Given the description of an element on the screen output the (x, y) to click on. 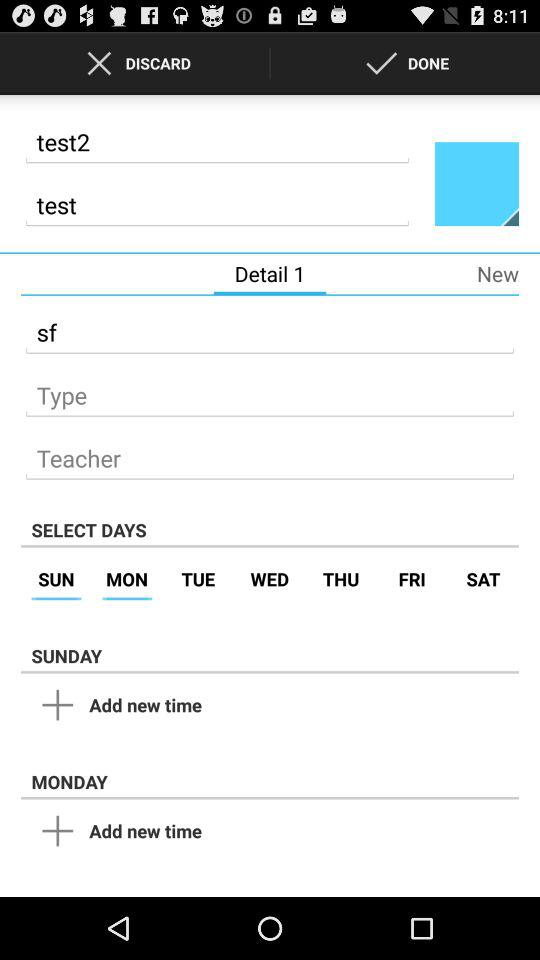
teacher name text field (270, 452)
